Given the description of an element on the screen output the (x, y) to click on. 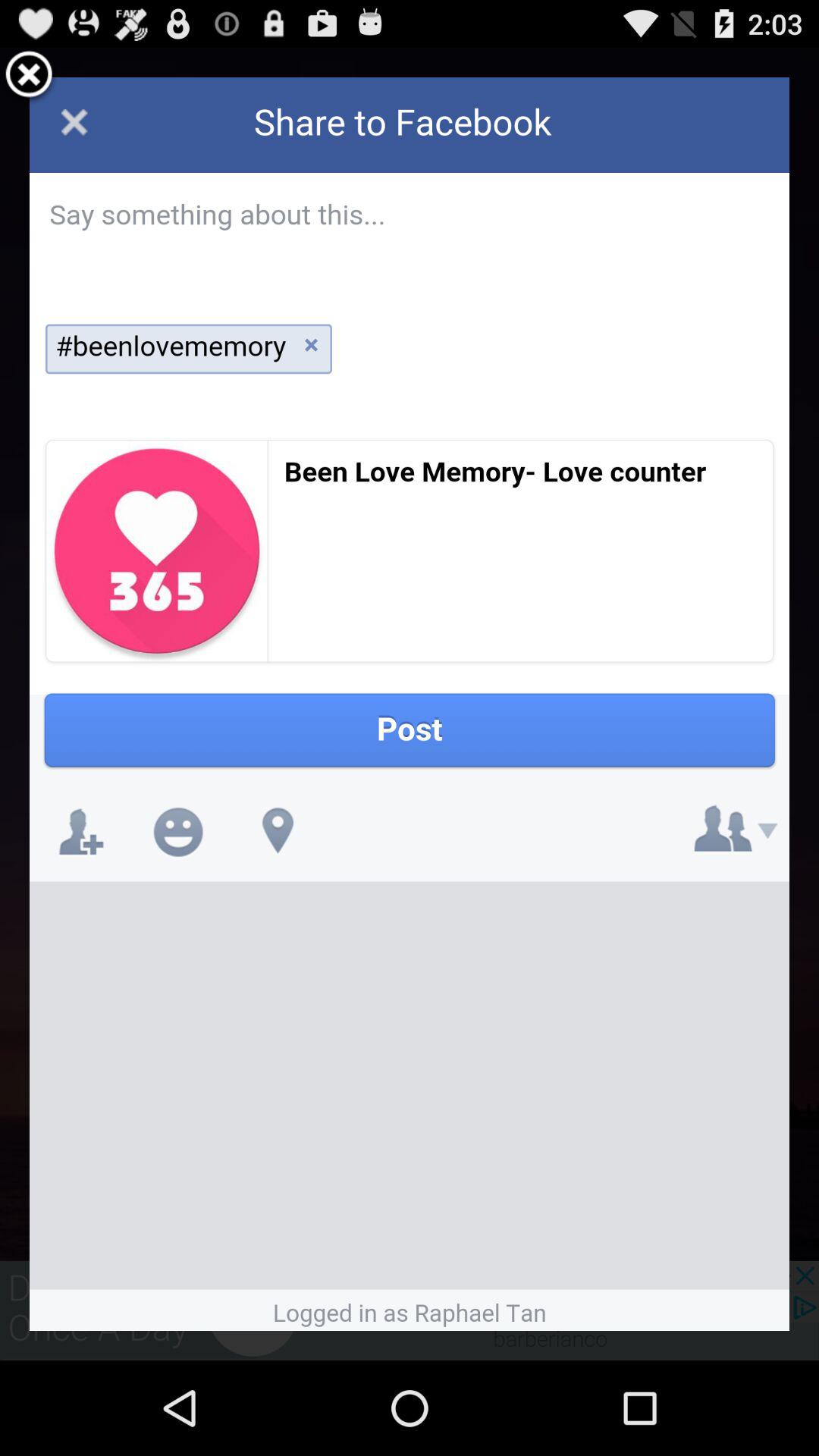
go to cloes button (29, 76)
